Given the description of an element on the screen output the (x, y) to click on. 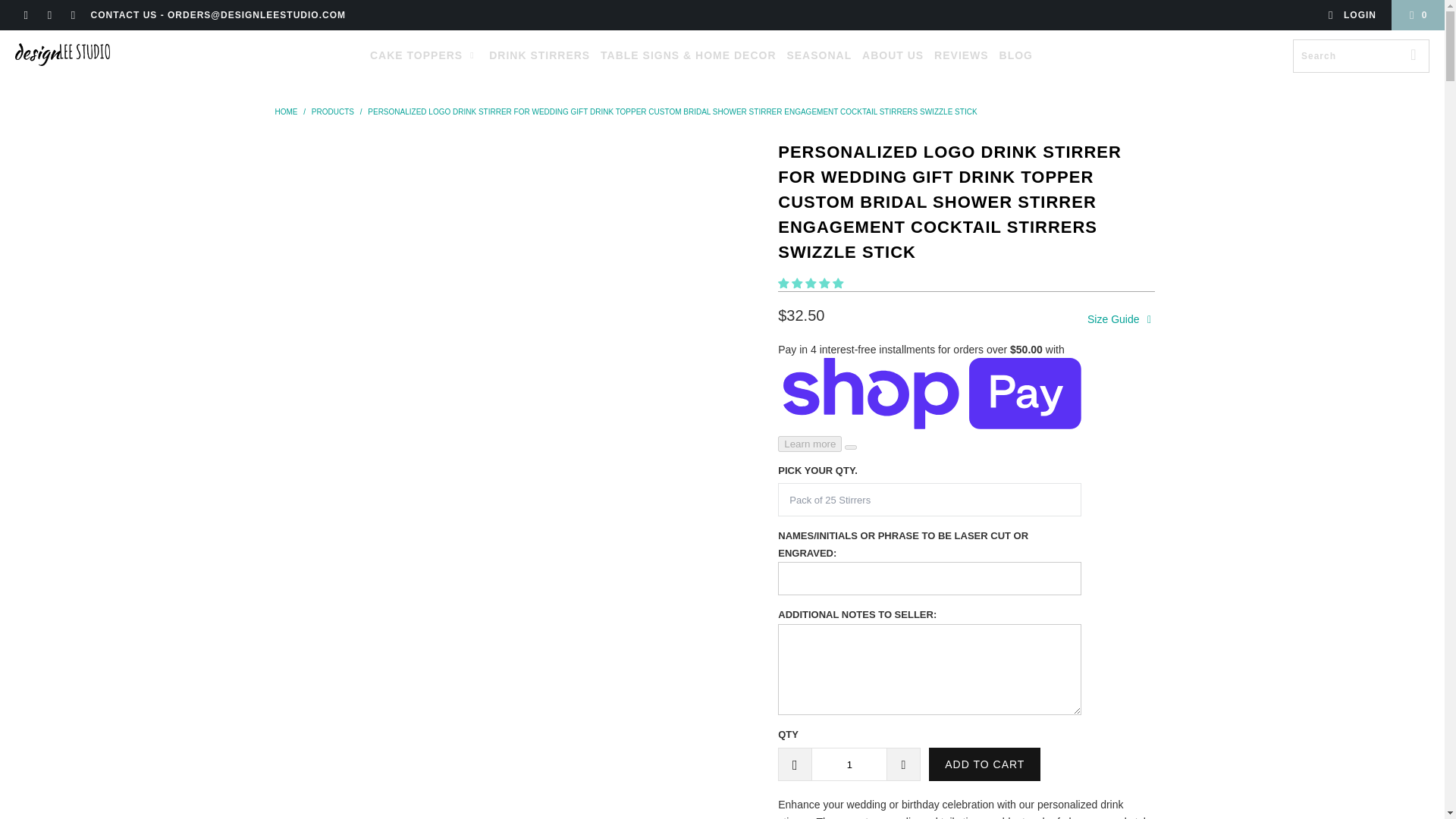
Products (332, 111)
designLEE Studio (62, 55)
CAKE TOPPERS (424, 54)
LOGIN (1351, 15)
BLOG (1015, 55)
designLEE Studio on Pinterest (48, 14)
ABOUT US (892, 55)
DRINK STIRRERS (539, 55)
1 (848, 764)
designLEE Studio (286, 111)
